Given the description of an element on the screen output the (x, y) to click on. 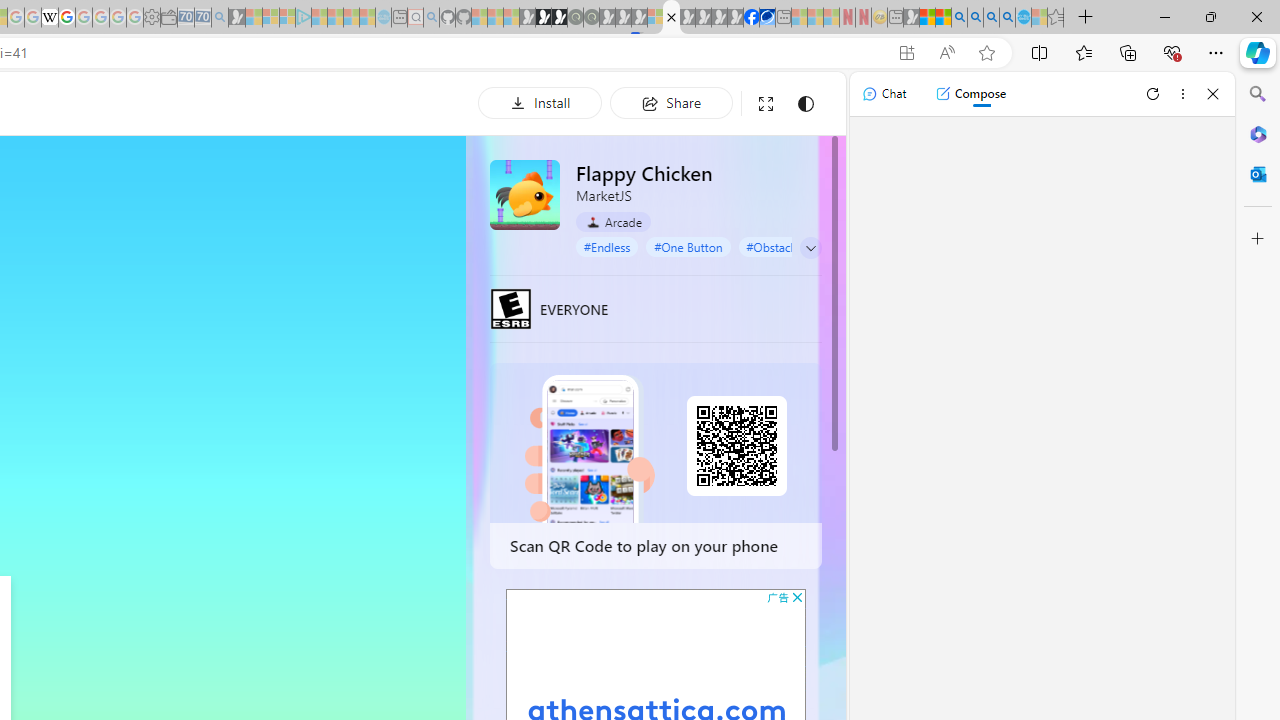
#Endless (607, 246)
Compose (970, 93)
Settings - Sleeping (151, 17)
Services - Maintenance | Sky Blue Bikes - Sky Blue Bikes (1023, 17)
